Given the description of an element on the screen output the (x, y) to click on. 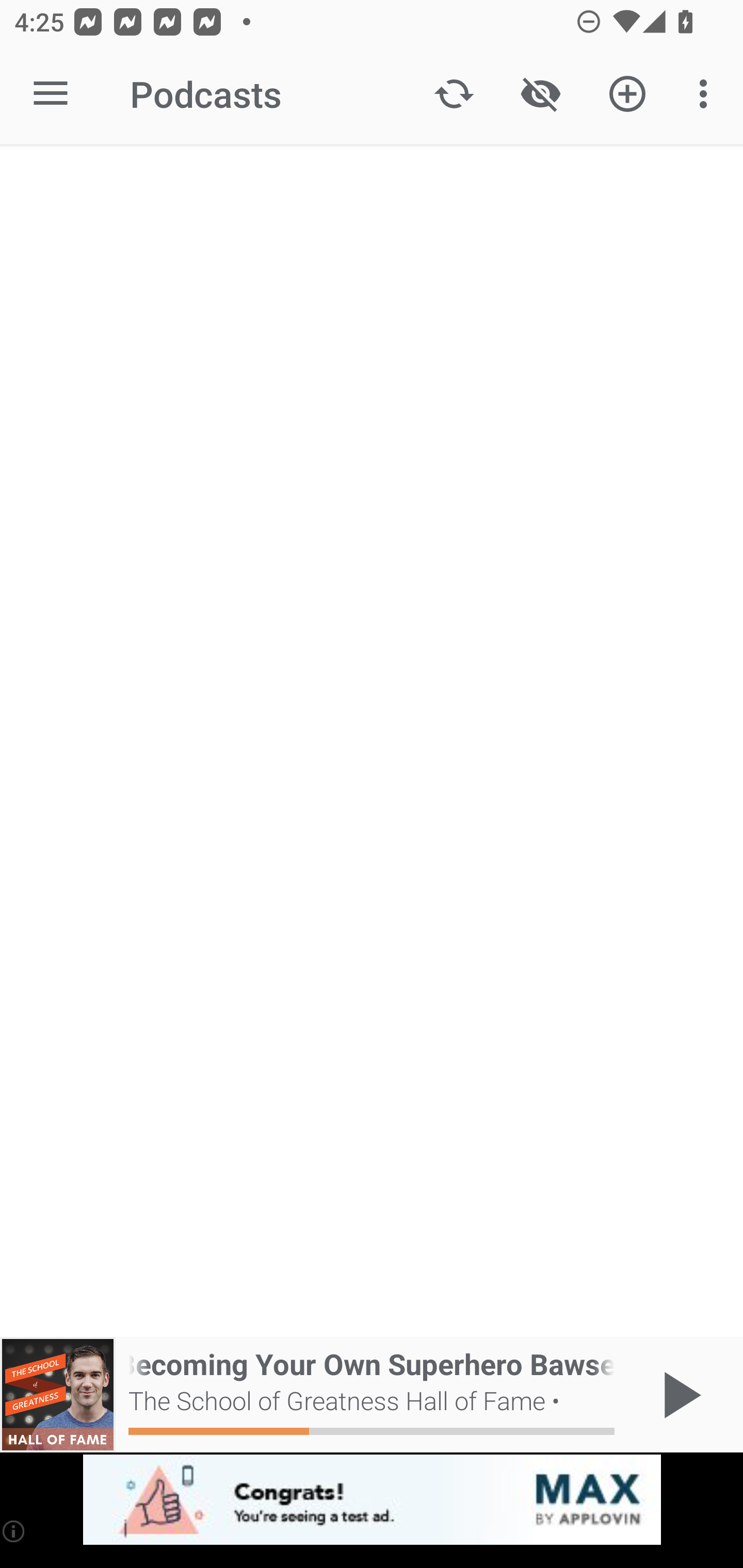
Open navigation sidebar (50, 93)
Update (453, 93)
Show / Hide played content (540, 93)
Add new Podcast (626, 93)
More options (706, 93)
Play / Pause (677, 1394)
app-monetization (371, 1500)
(i) (14, 1531)
